Given the description of an element on the screen output the (x, y) to click on. 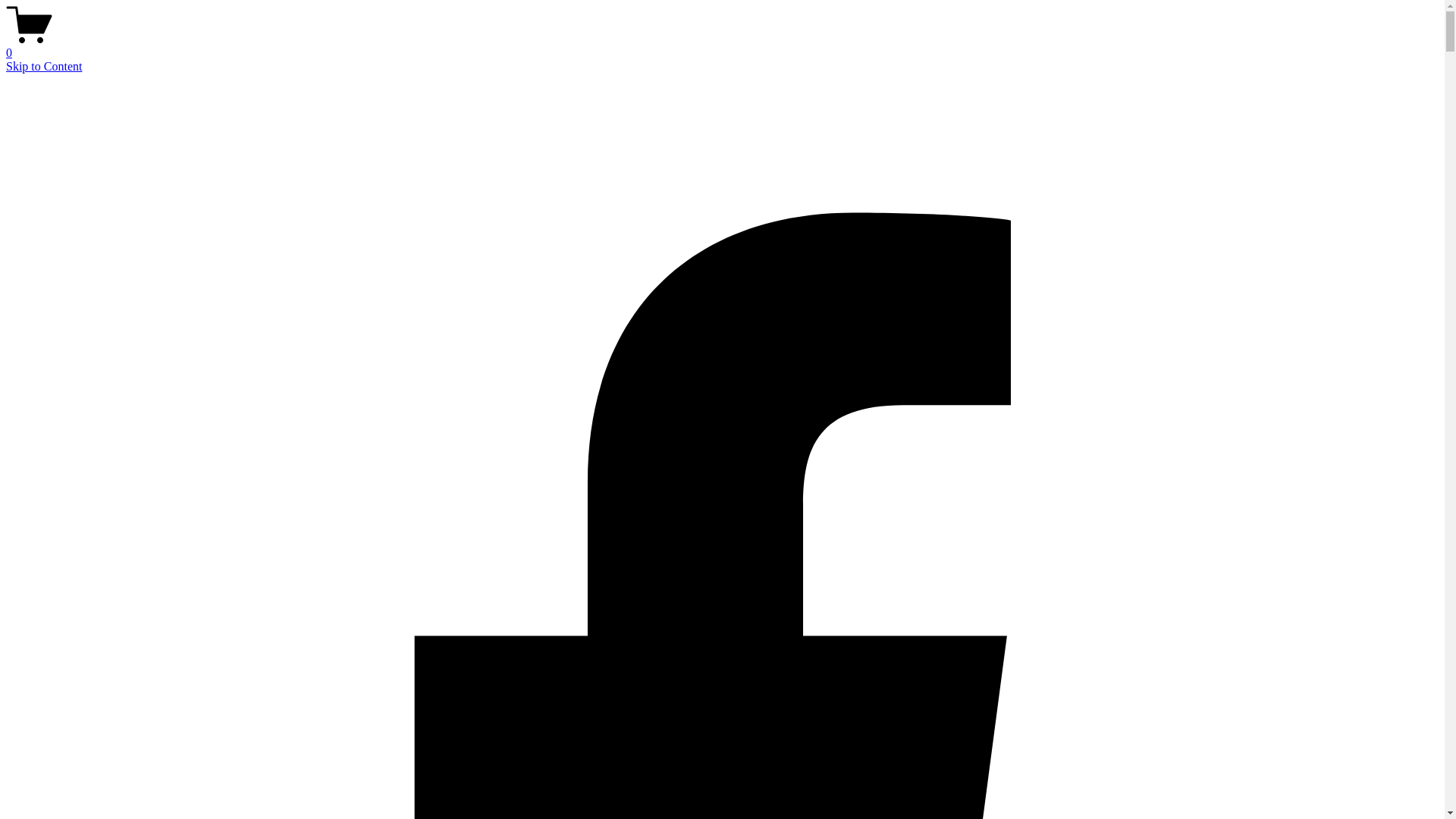
0 Element type: text (722, 45)
Skip to Content Element type: text (43, 65)
